Given the description of an element on the screen output the (x, y) to click on. 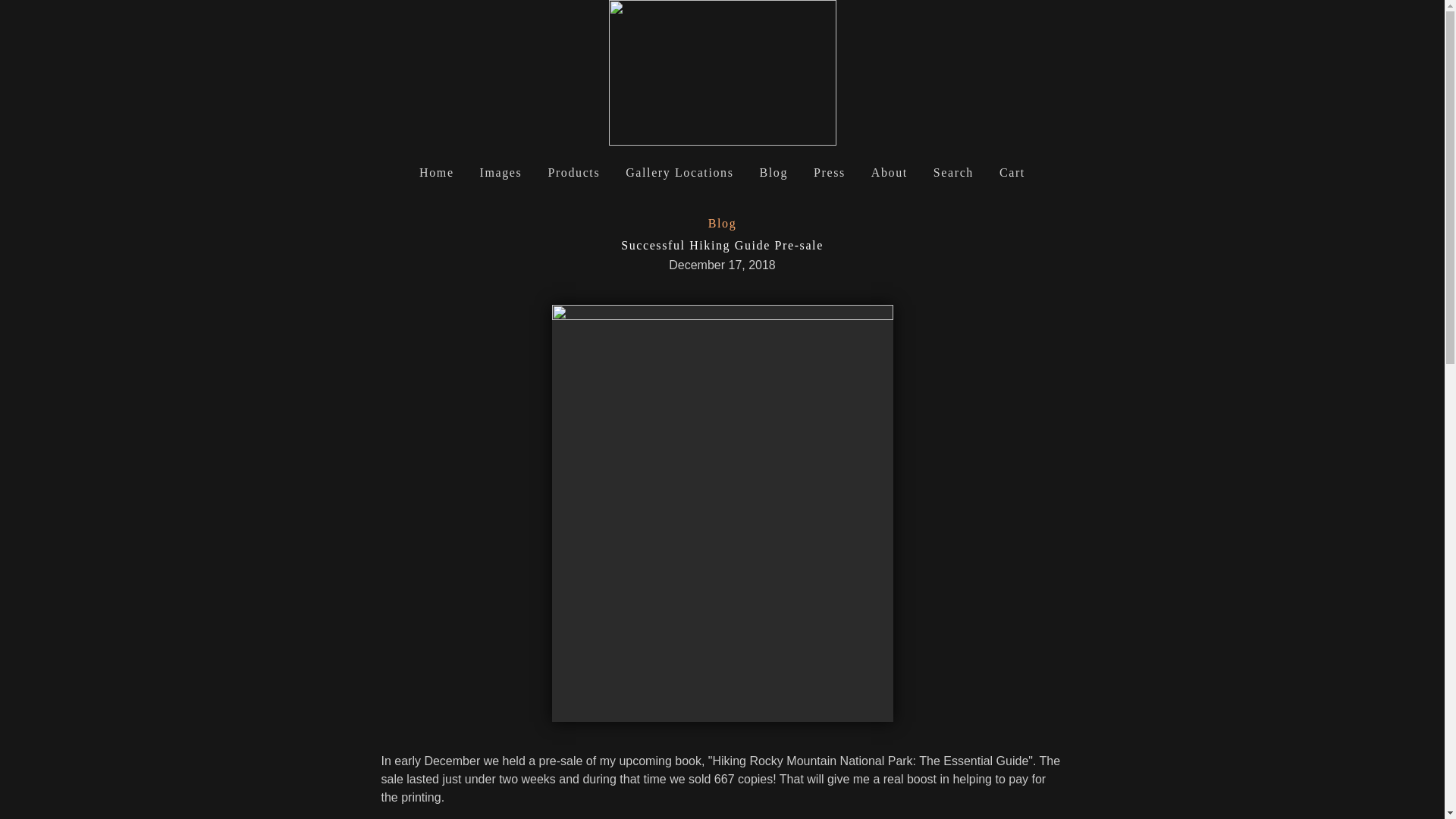
About (889, 166)
Cart (1011, 166)
Blog (721, 223)
Home (436, 166)
Blog (774, 166)
Press (829, 166)
Search (953, 166)
Products (573, 166)
Images (500, 166)
Gallery Locations (678, 166)
